Given the description of an element on the screen output the (x, y) to click on. 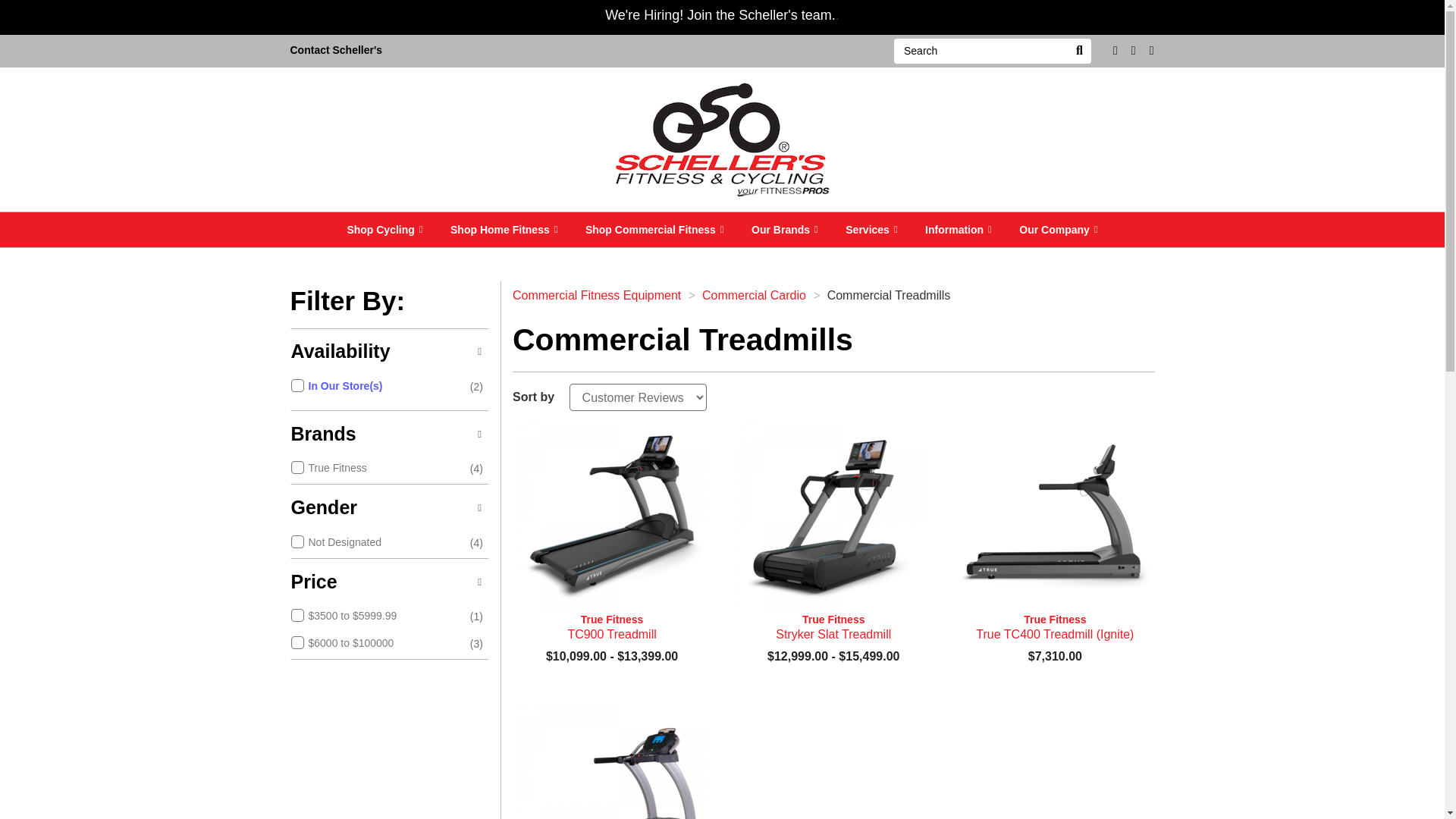
True Fitness Stryker Slat Treadmill (833, 626)
True Fitness TC900 Treadmill (611, 626)
Contact Scheller's (336, 51)
Contact Scheller's (336, 51)
now hiring (720, 14)
True Fitness TC900 Treadmill (611, 516)
Search (1078, 50)
Search (980, 50)
We're Hiring! Join the Scheller's team. (720, 14)
Shop Cycling (383, 229)
True Fitness Stryker Slat Treadmill (833, 516)
